Given the description of an element on the screen output the (x, y) to click on. 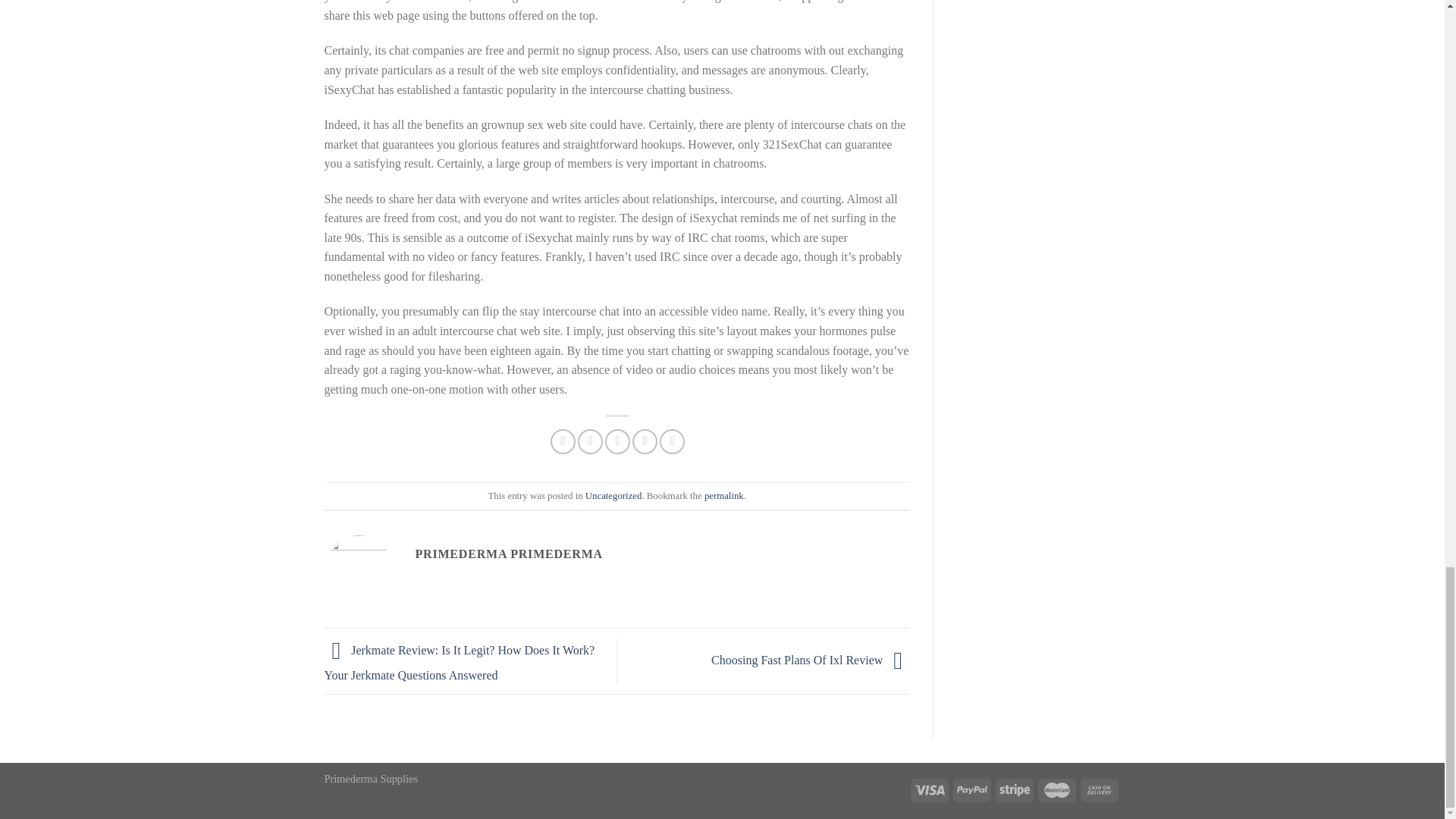
Share on LinkedIn (671, 441)
Permalink to Isexychat (724, 495)
Share on Twitter (590, 441)
Share on Facebook (562, 441)
Email to a Friend (617, 441)
Pin on Pinterest (644, 441)
